Given the description of an element on the screen output the (x, y) to click on. 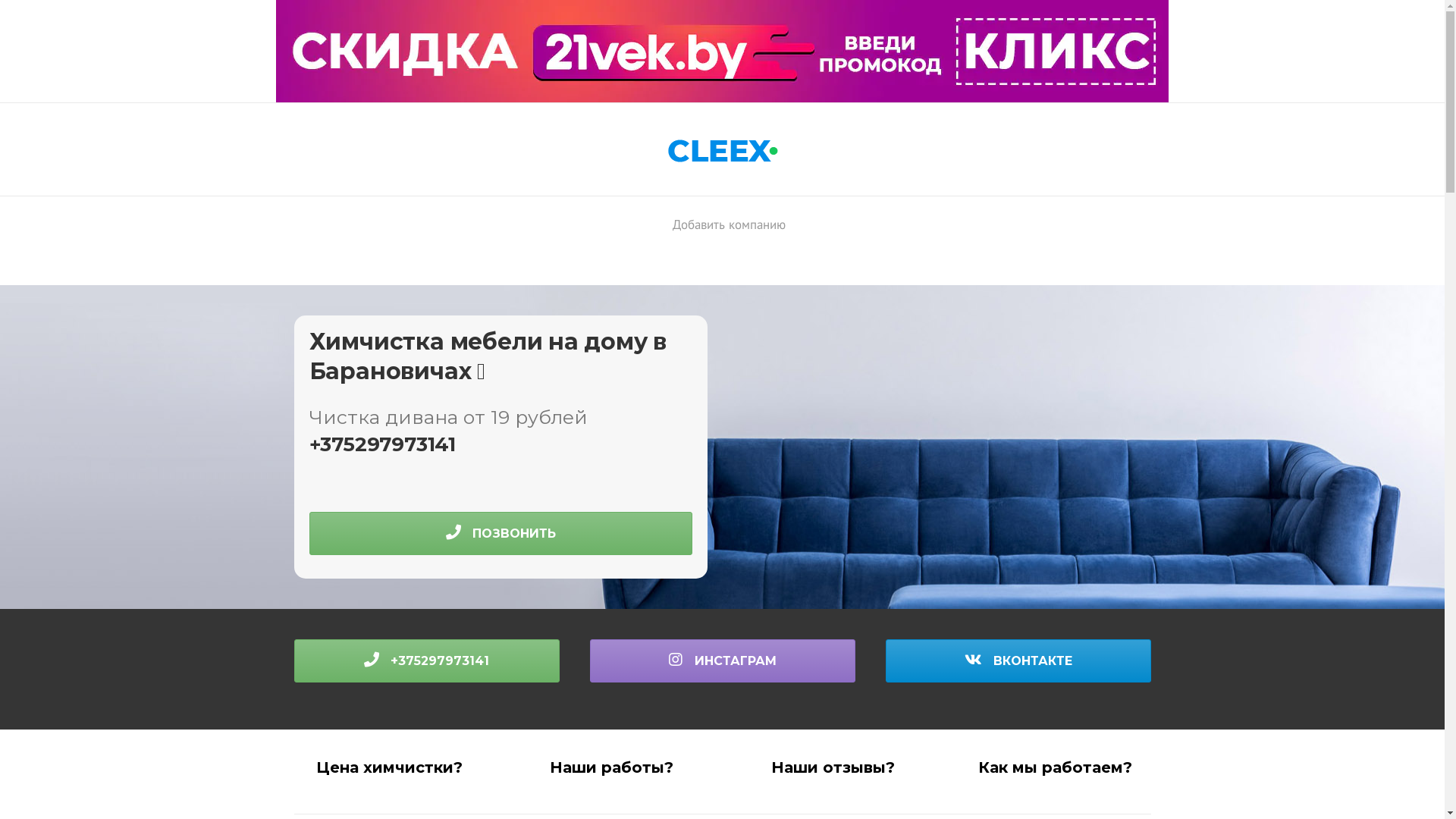
+375297973141 Element type: text (426, 660)
+375297973141 Element type: text (382, 444)
